Given the description of an element on the screen output the (x, y) to click on. 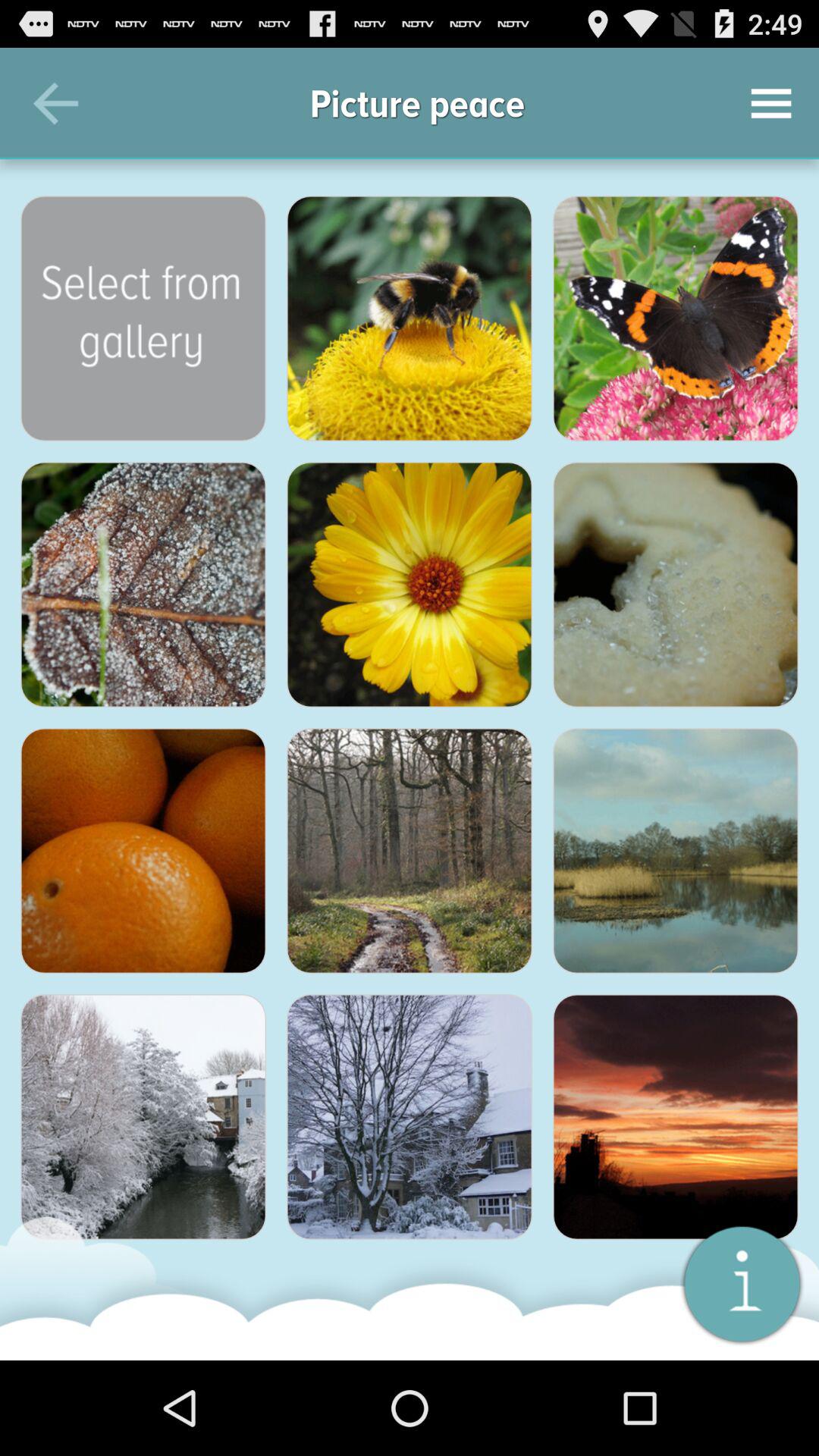
select picture of a leaf (143, 584)
